Given the description of an element on the screen output the (x, y) to click on. 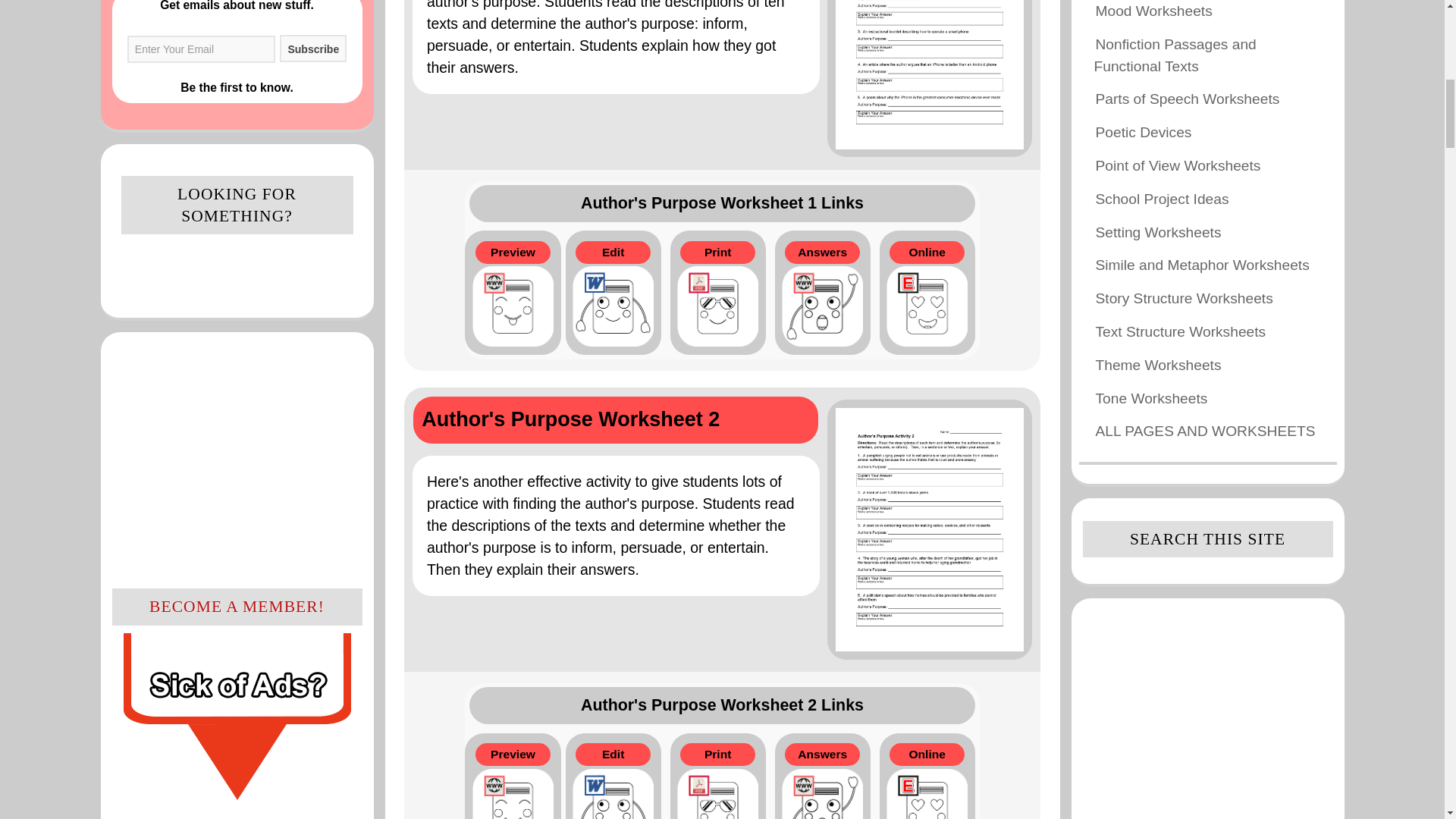
Online (927, 292)
Preview (512, 773)
Author's Purpose Worksheet 1 (722, 84)
Subscribe (312, 48)
Enter Your Email (201, 49)
Answers (822, 292)
Preview (512, 292)
Edit (612, 773)
Author's Purpose Worksheet 1 Links (721, 203)
BECOME A MEMBER! (236, 703)
Edit (612, 292)
Author's Purpose Worksheet 2 Links (721, 705)
Print (717, 292)
